Given the description of an element on the screen output the (x, y) to click on. 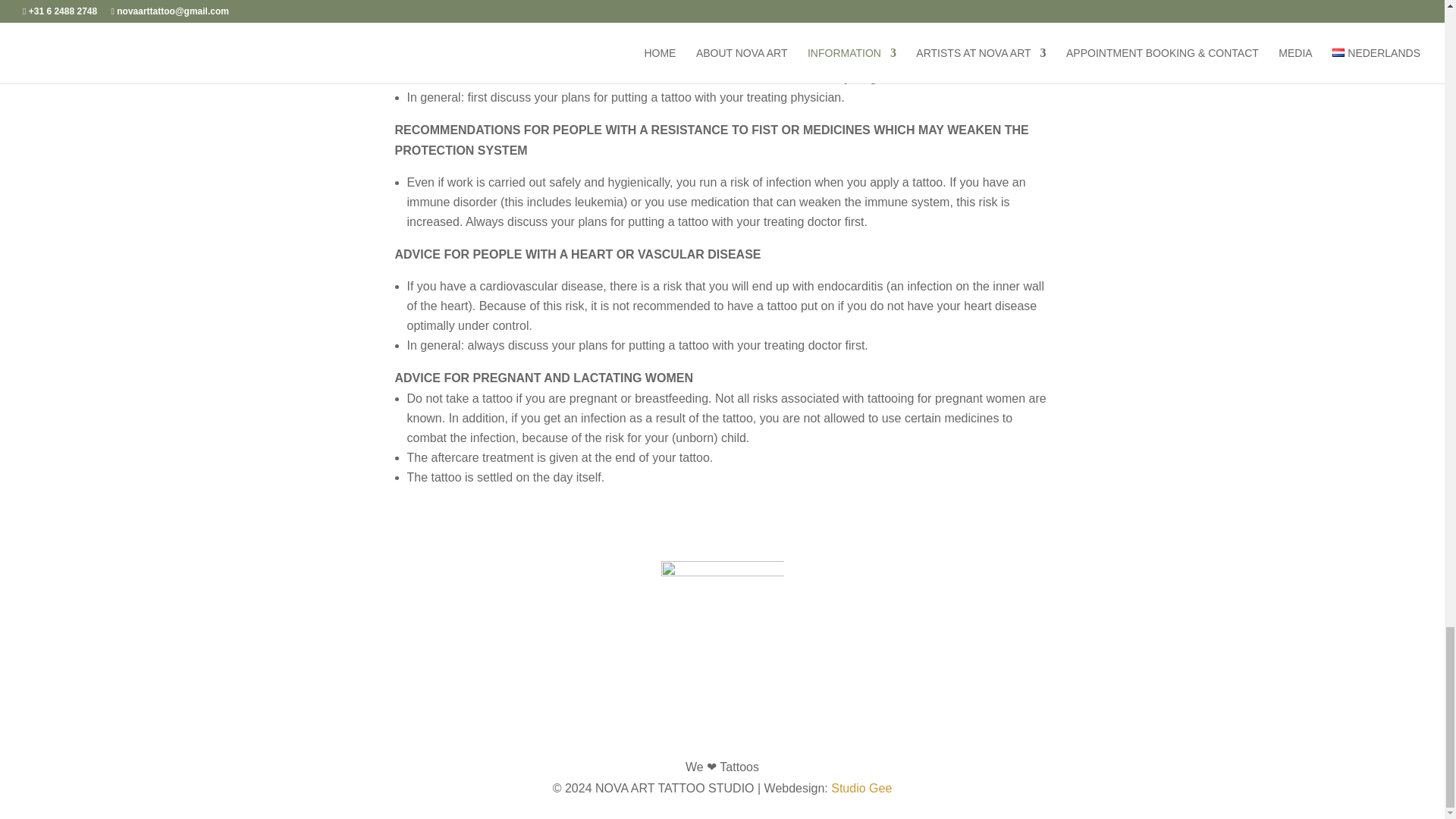
Studio Gee (861, 788)
